Given the description of an element on the screen output the (x, y) to click on. 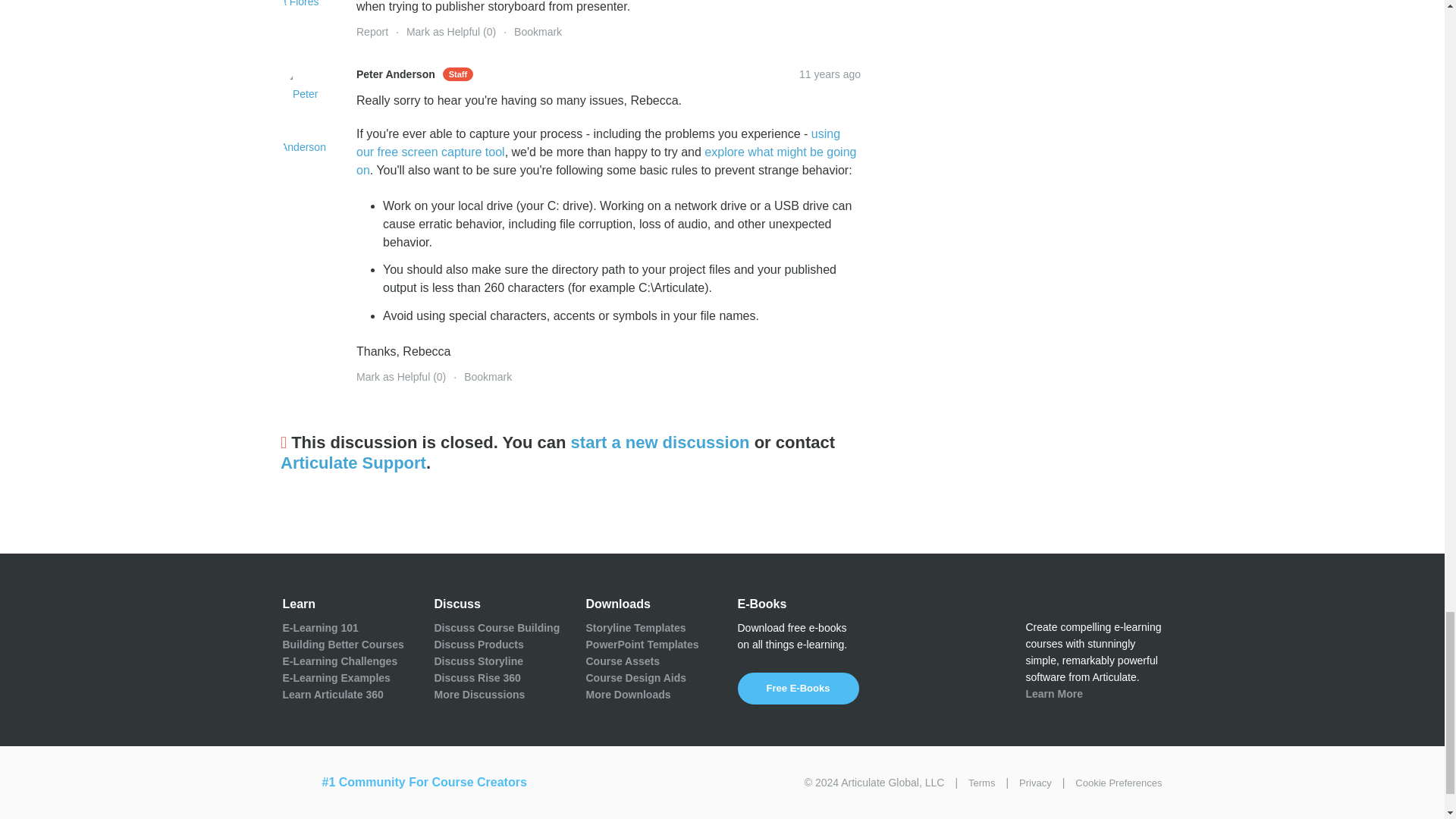
Peter Anderson (307, 120)
Copy URL to Clipboard (829, 73)
Rebecca Flores (307, 13)
